Given the description of an element on the screen output the (x, y) to click on. 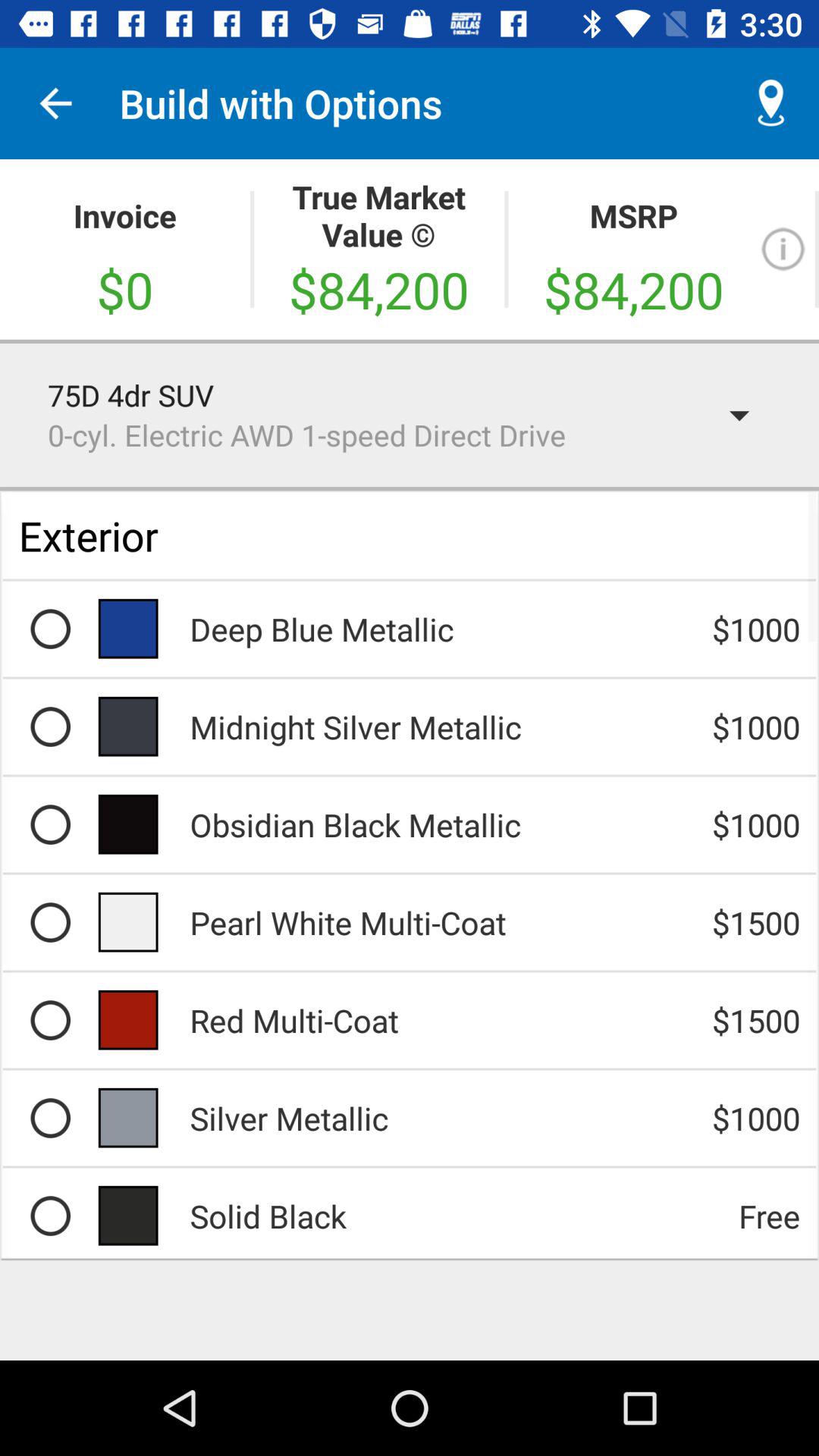
select the black (50, 1215)
